Given the description of an element on the screen output the (x, y) to click on. 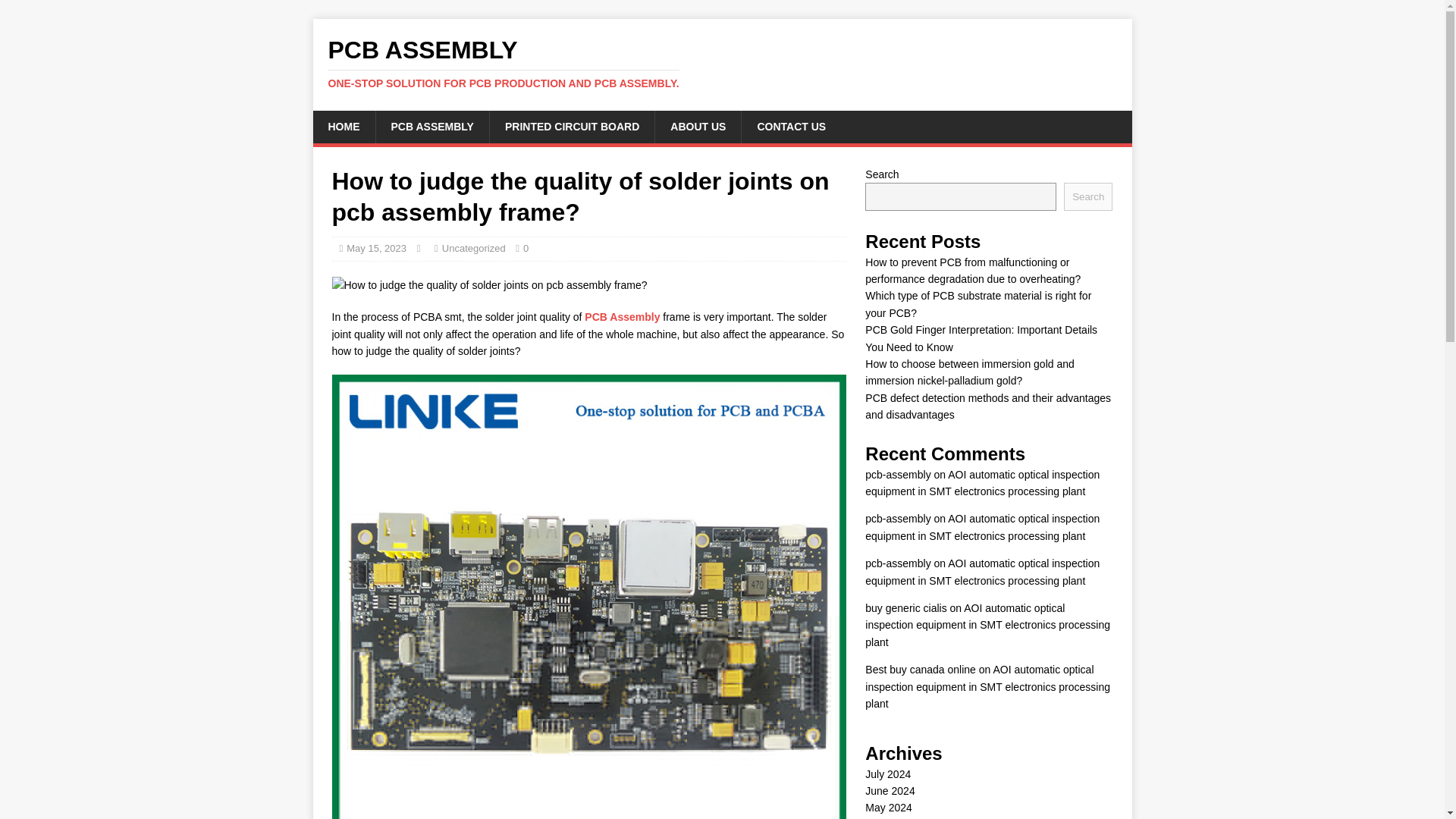
pcb-assembly (897, 518)
HOME (343, 126)
Which type of PCB substrate material is right for your PCB? (977, 303)
PCB Assembly (622, 316)
CONTACT US (791, 126)
Professional PCB Assembly service (622, 316)
Best buy canada online (919, 669)
May 15, 2023 (376, 247)
pcb-assembly (897, 563)
